Given the description of an element on the screen output the (x, y) to click on. 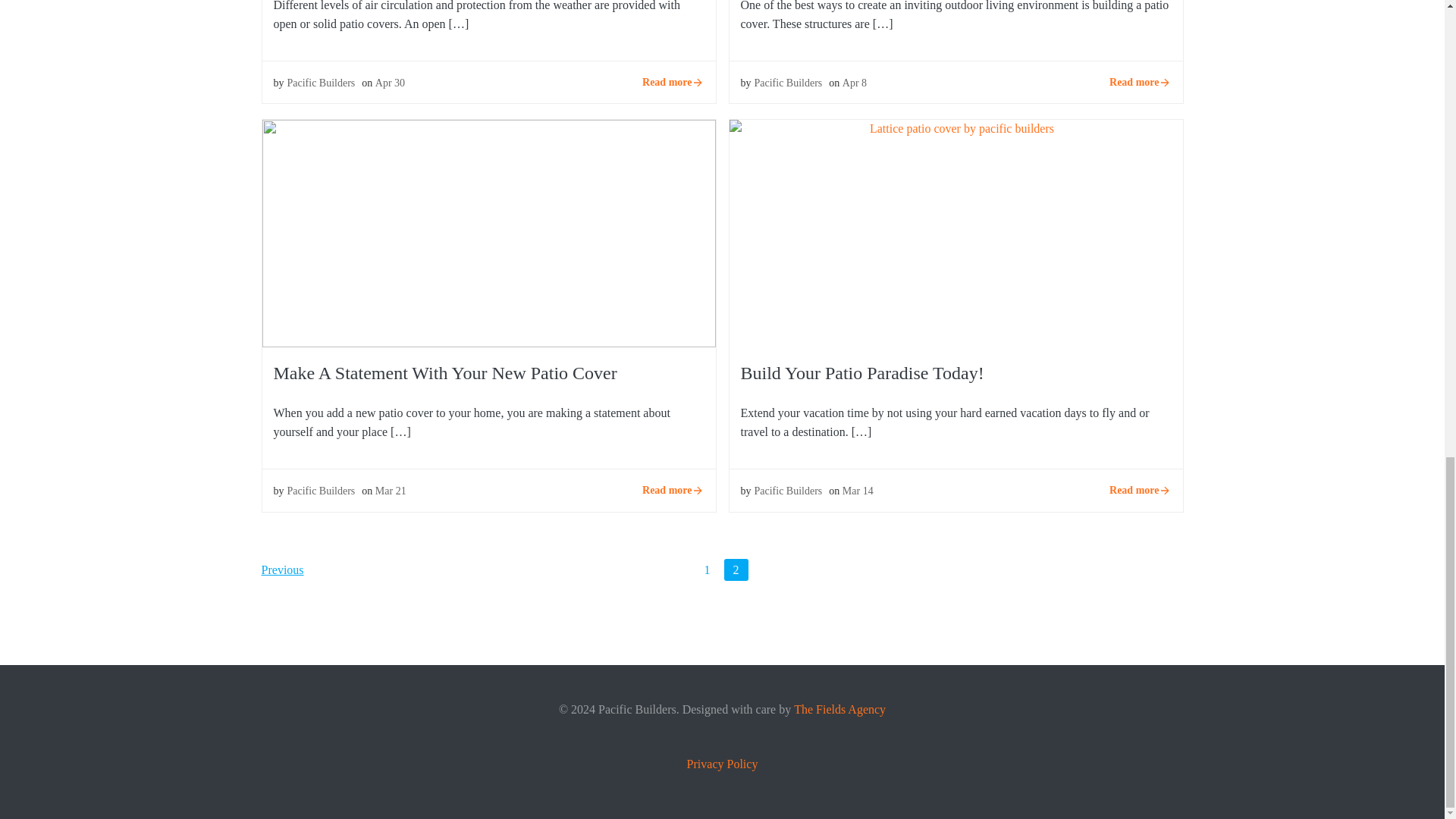
Build Your Patio Paradise Today! (955, 232)
Make A Statement With Your New Patio Cover (489, 232)
